Given the description of an element on the screen output the (x, y) to click on. 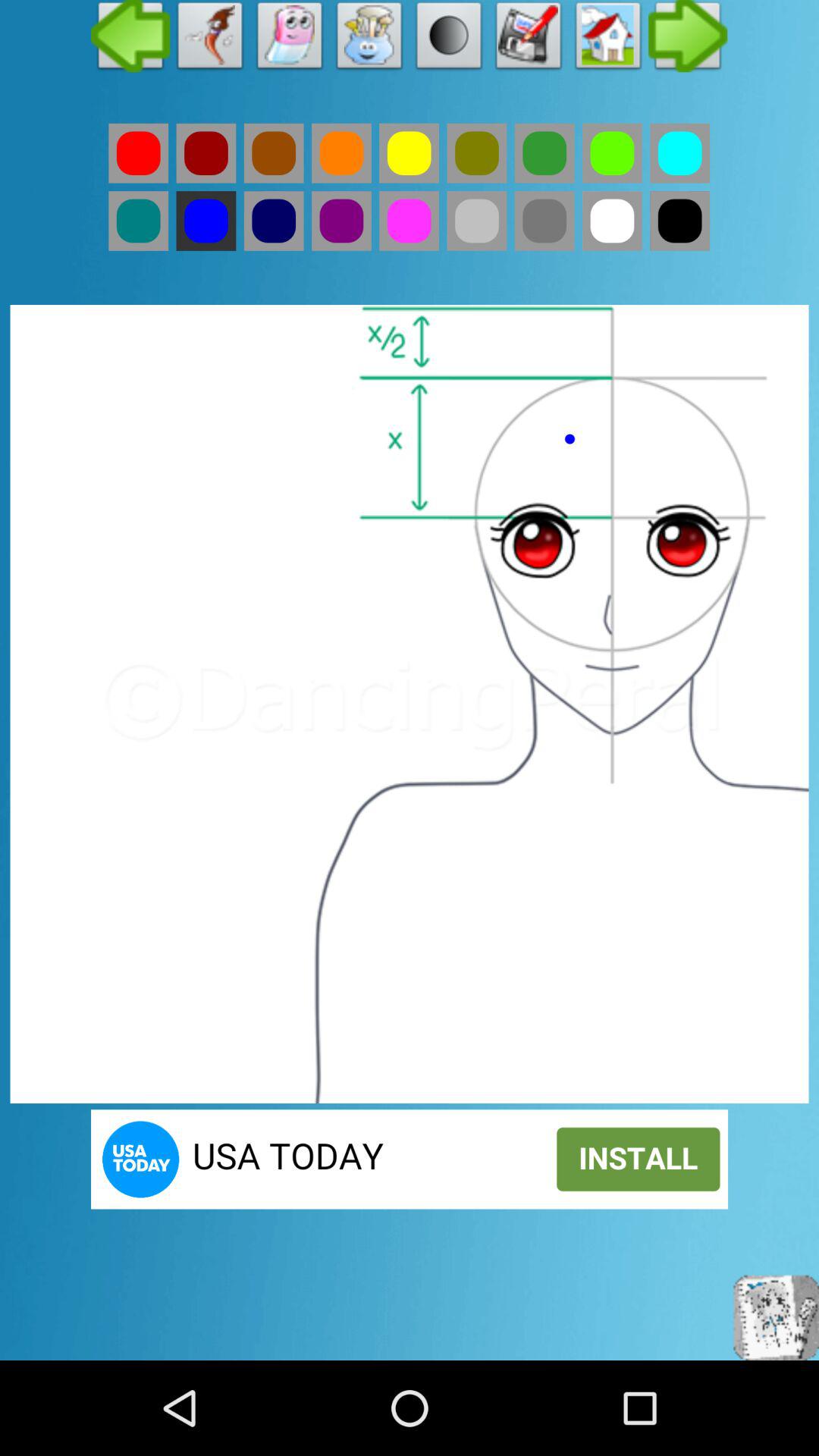
color choice (138, 220)
